Given the description of an element on the screen output the (x, y) to click on. 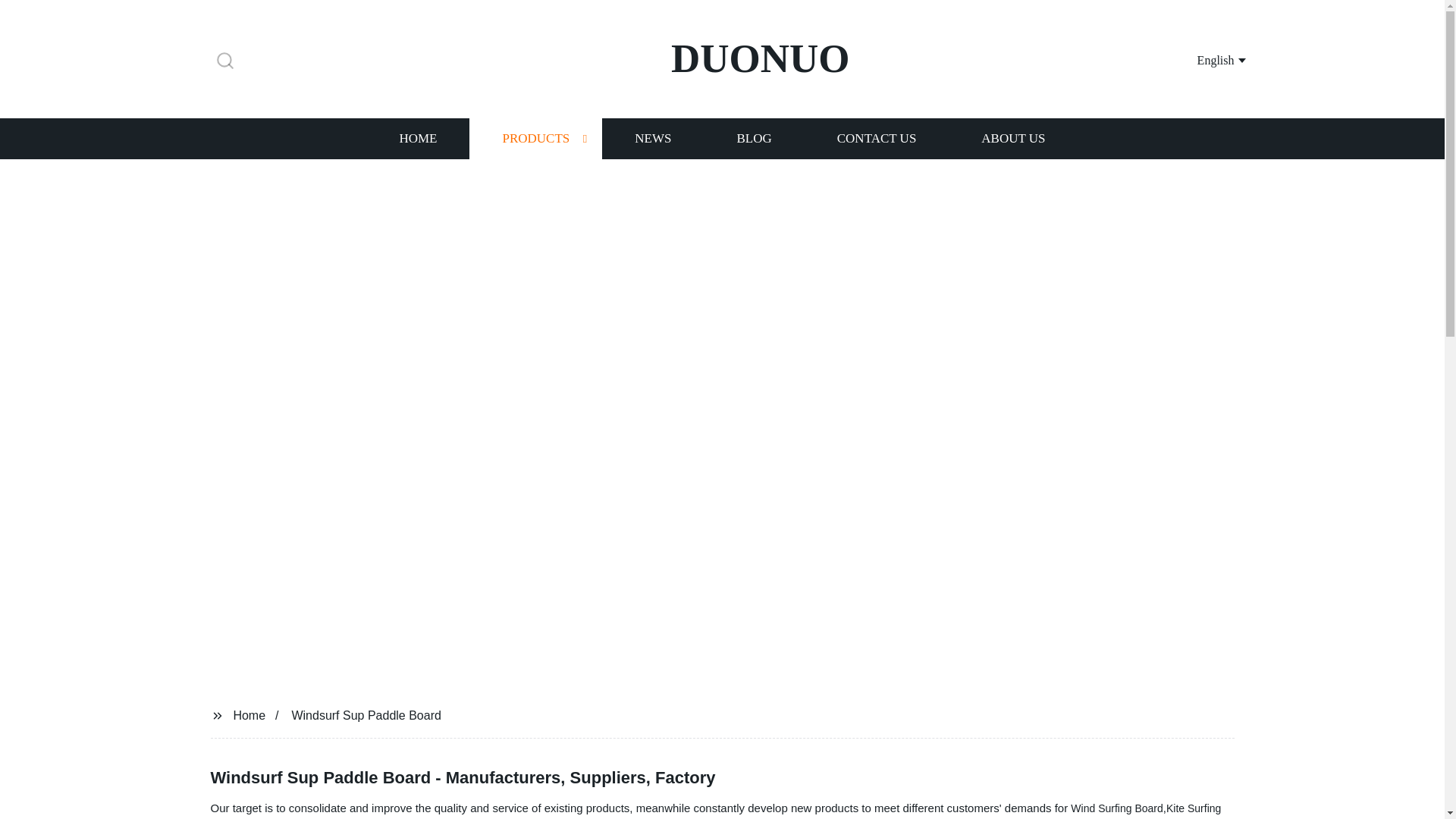
Kite Surfing Board (716, 810)
Wind Surfing Board (1115, 808)
Windsurf Sup Paddle Board (366, 714)
HOME (417, 137)
Home (248, 714)
ABOUT US (1013, 137)
CONTACT US (877, 137)
BLOG (753, 137)
NEWS (652, 137)
English (1203, 59)
